Given the description of an element on the screen output the (x, y) to click on. 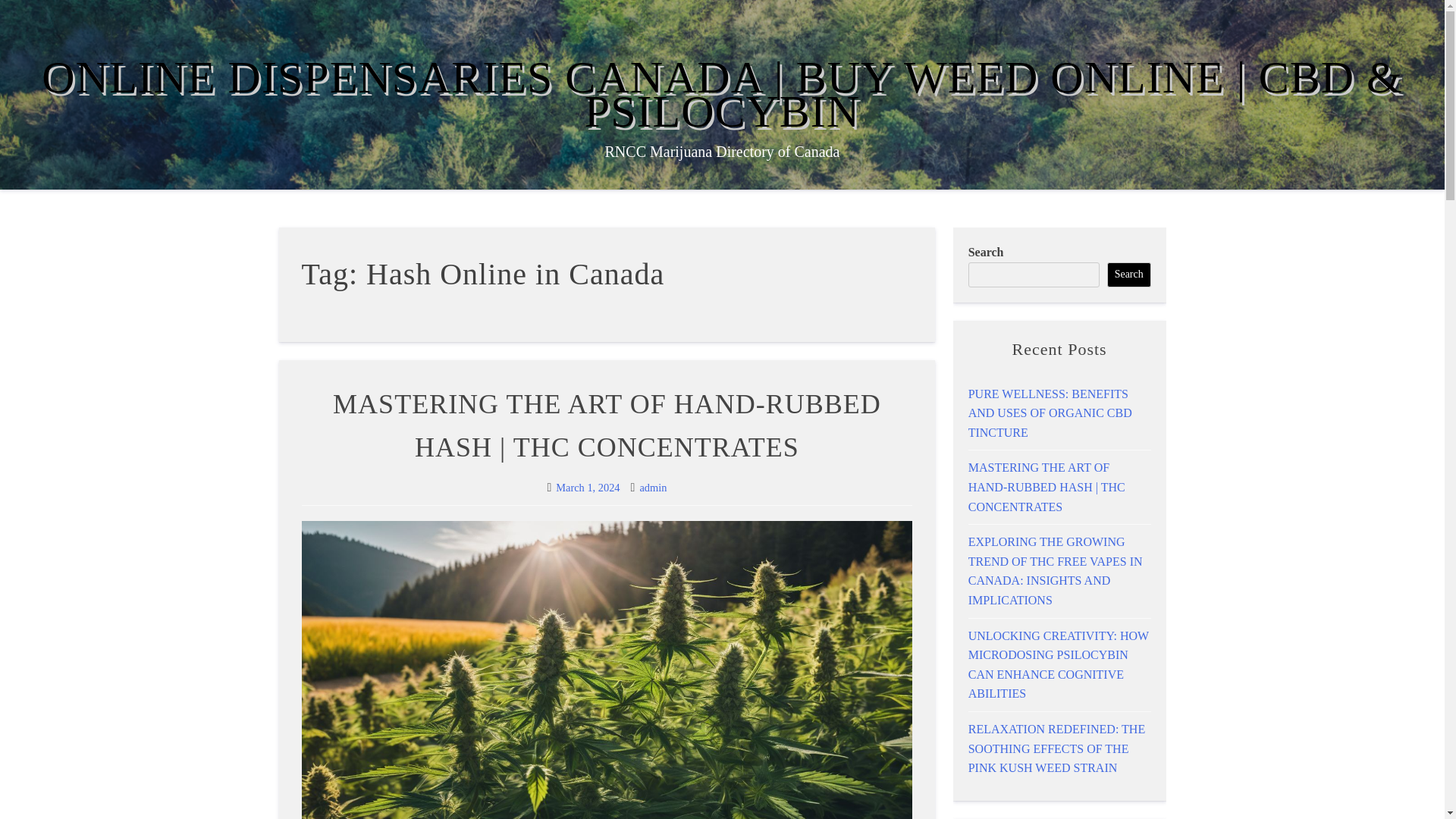
admin (652, 487)
Search (1128, 275)
PURE WELLNESS: BENEFITS AND USES OF ORGANIC CBD TINCTURE (1050, 412)
March 1, 2024 (588, 487)
